Given the description of an element on the screen output the (x, y) to click on. 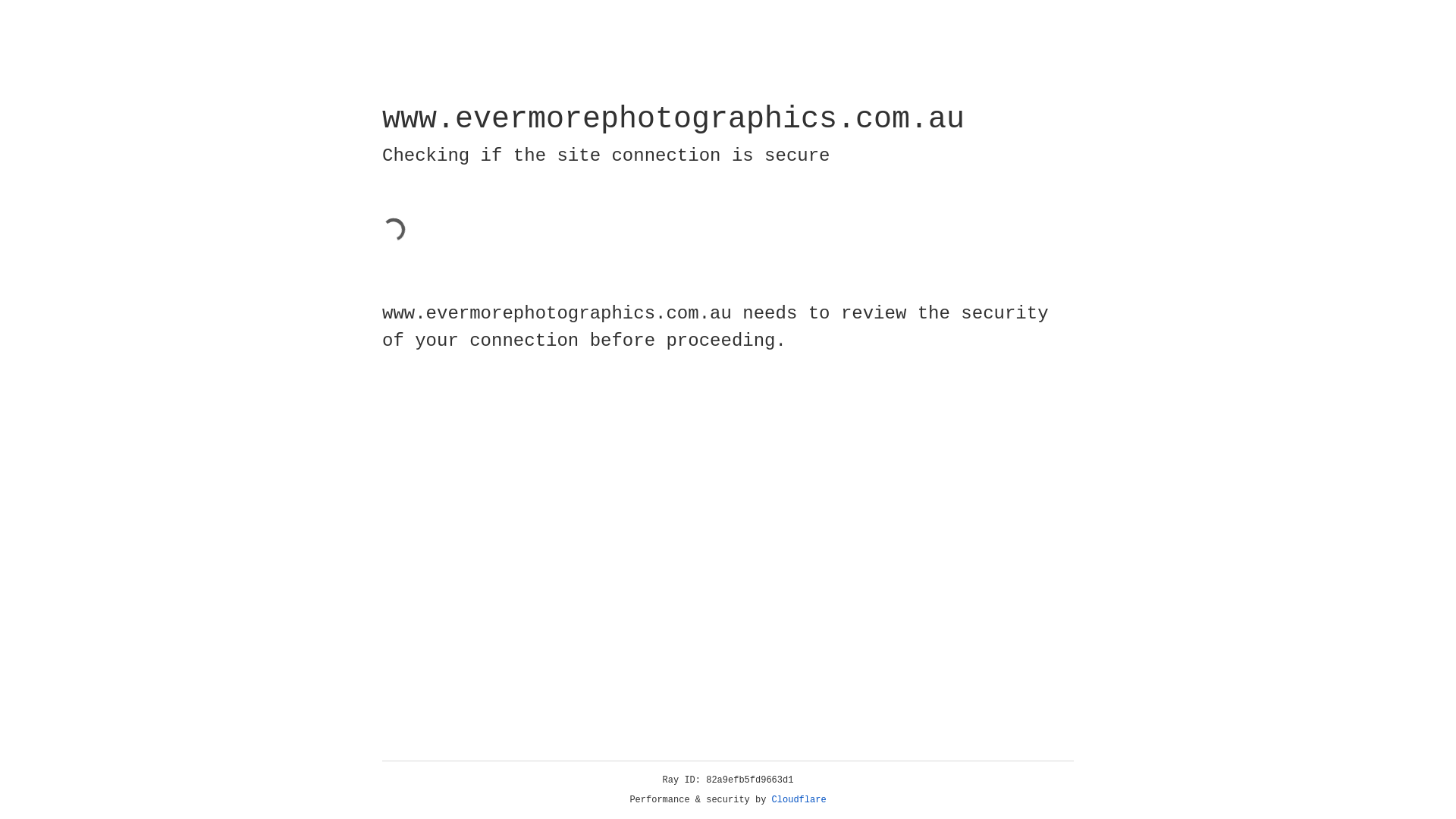
Cloudflare Element type: text (798, 799)
